Given the description of an element on the screen output the (x, y) to click on. 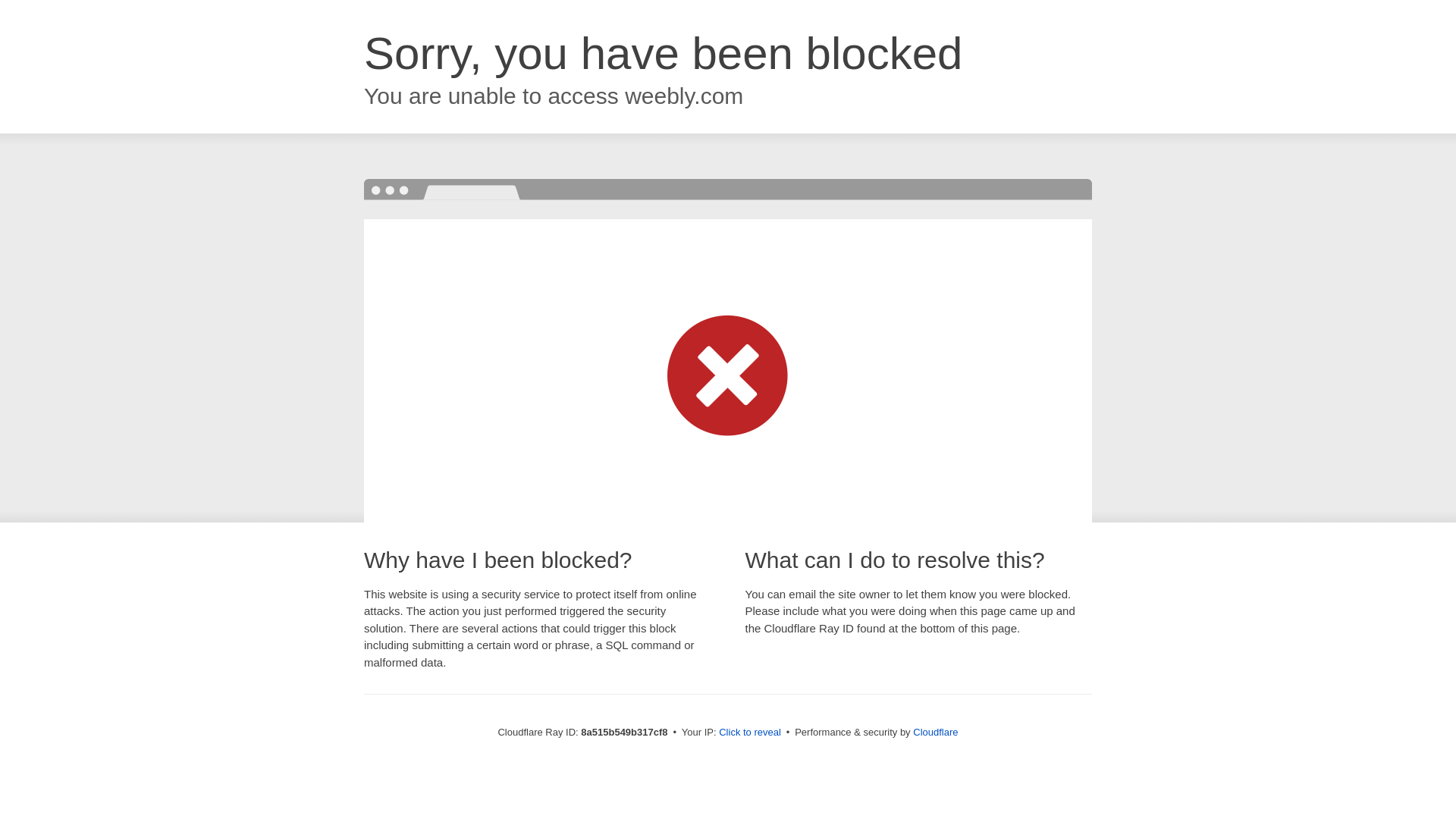
Click to reveal (749, 732)
Cloudflare (935, 731)
